Given the description of an element on the screen output the (x, y) to click on. 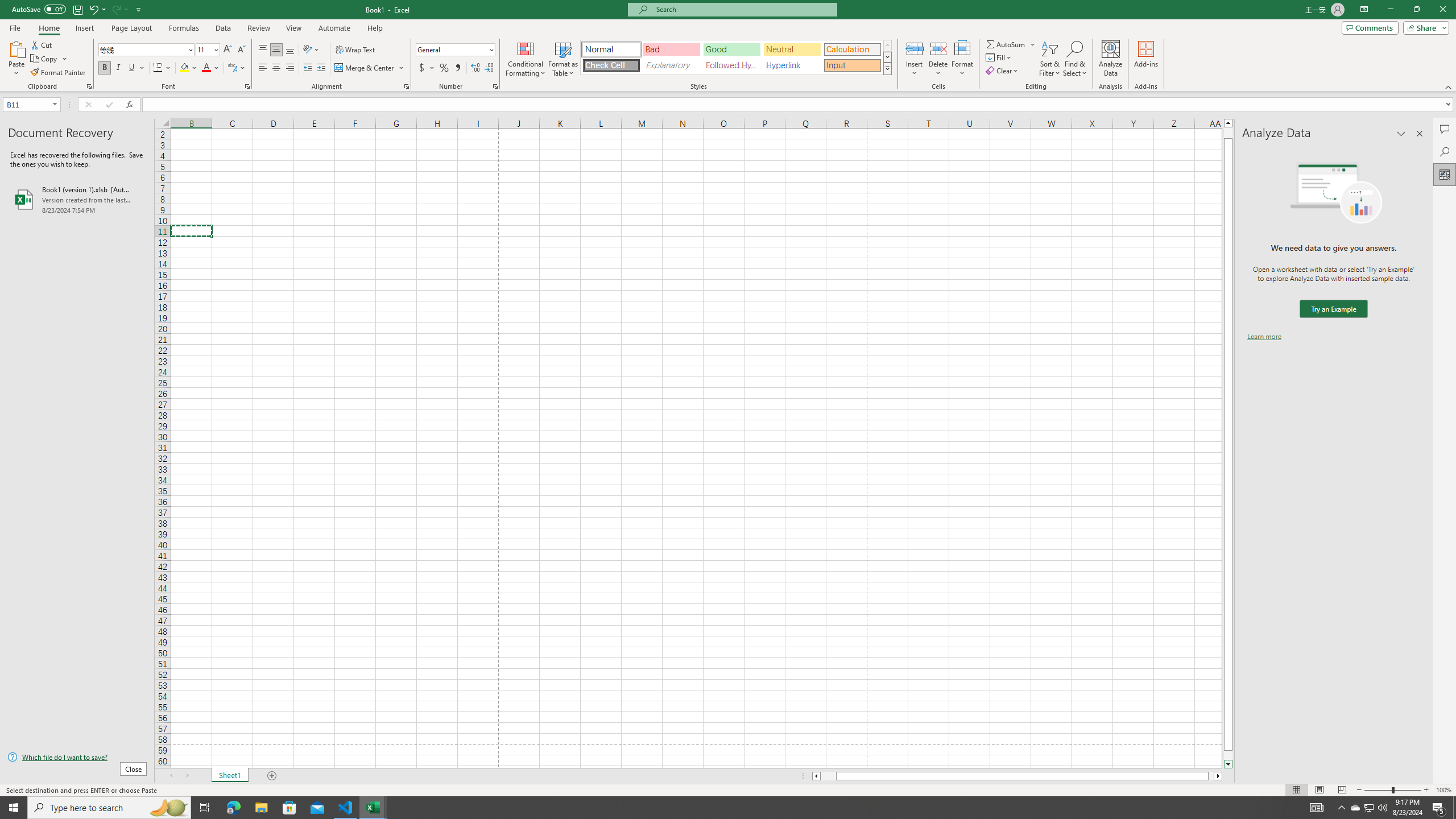
Fill Color (188, 67)
Decrease Indent (307, 67)
Decrease Font Size (240, 49)
Borders (162, 67)
Merge & Center (369, 67)
